Given the description of an element on the screen output the (x, y) to click on. 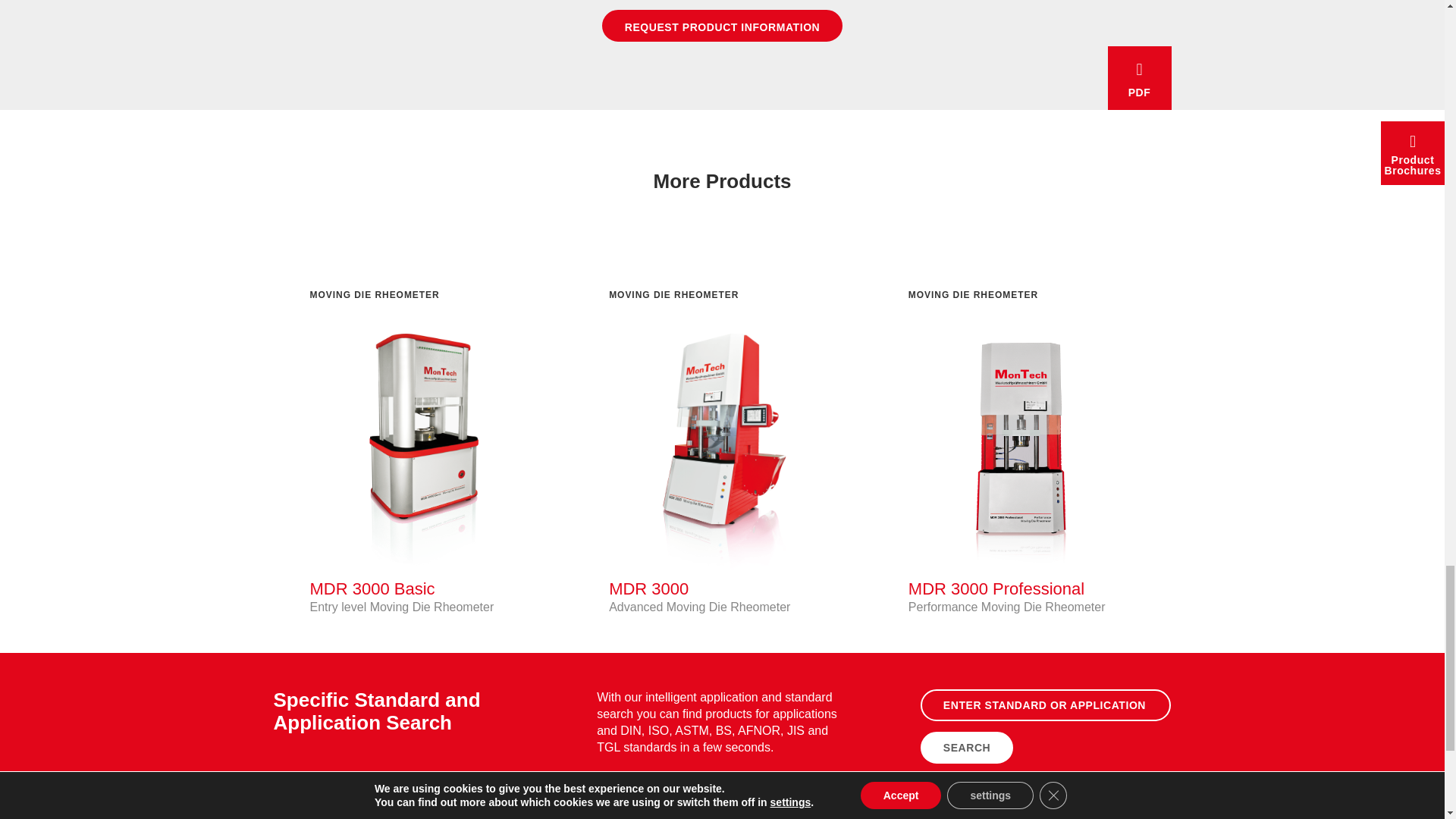
Search (966, 747)
